Given the description of an element on the screen output the (x, y) to click on. 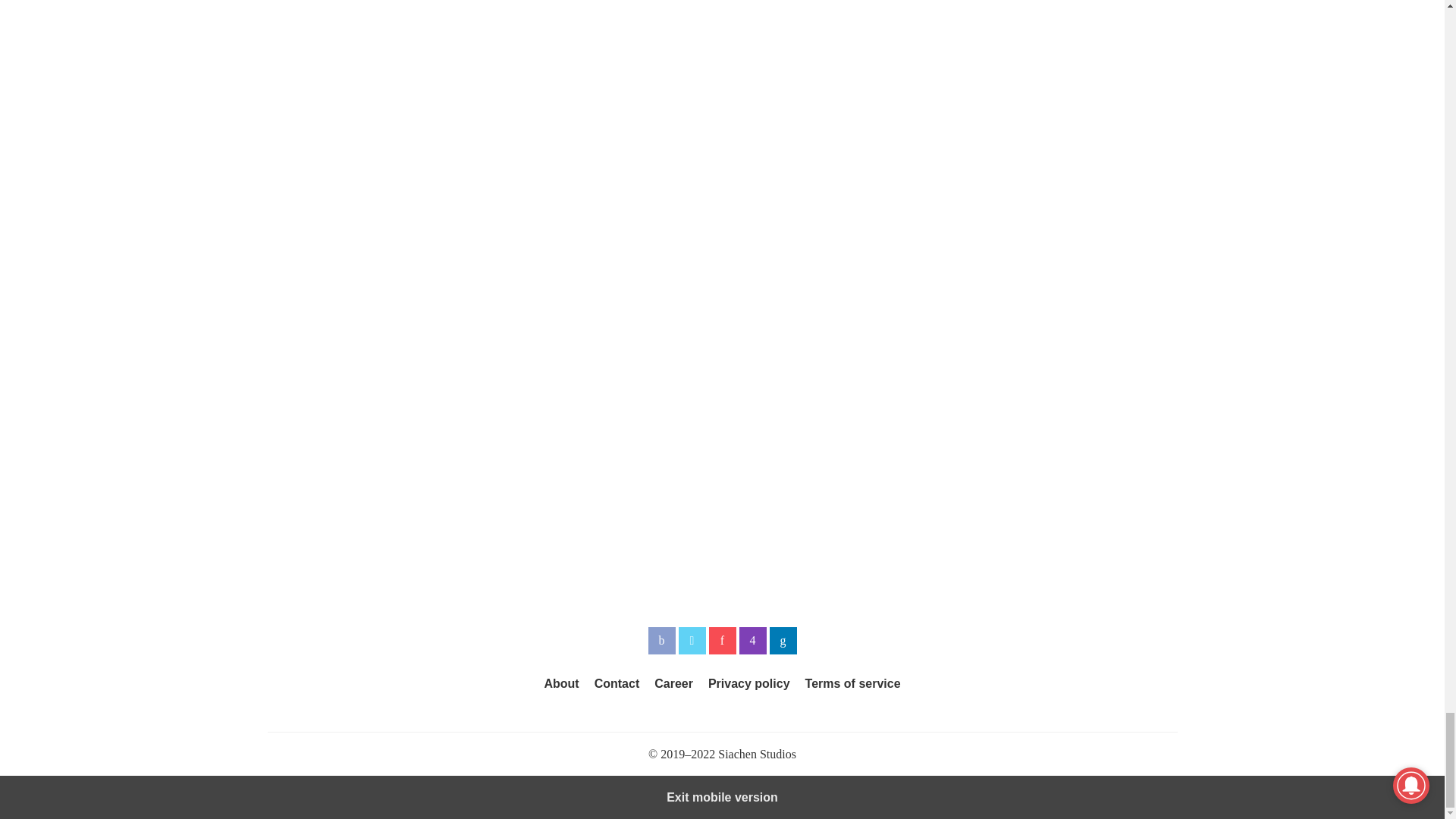
About (560, 683)
Pinterest (721, 640)
Facebook (661, 640)
Twitter (691, 640)
Instagram (751, 640)
Contact (617, 683)
